Given the description of an element on the screen output the (x, y) to click on. 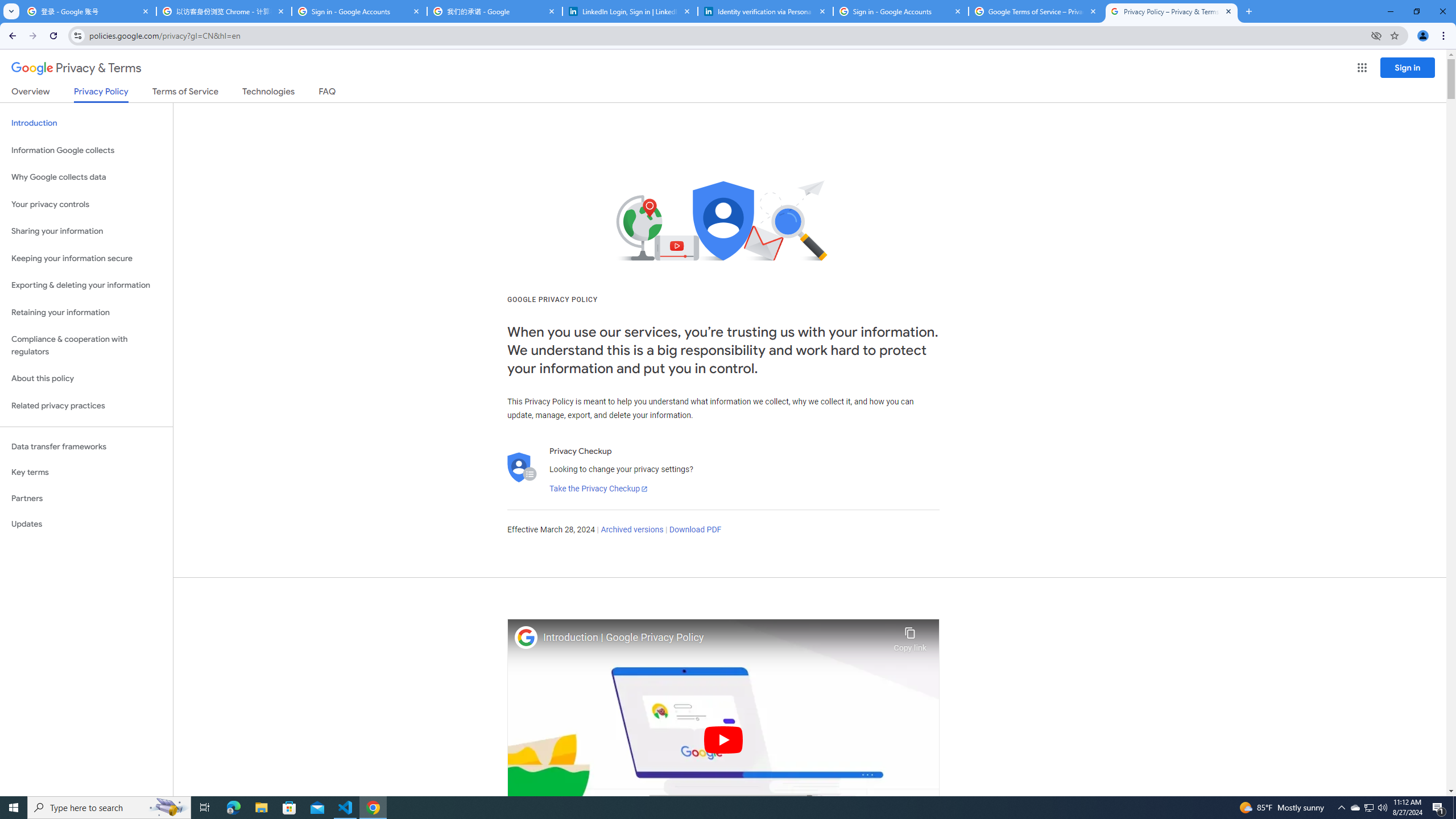
Keeping your information secure (86, 258)
LinkedIn Login, Sign in | LinkedIn (630, 11)
Archived versions (631, 529)
Play (723, 739)
Why Google collects data (86, 176)
Sign in - Google Accounts (901, 11)
Compliance & cooperation with regulators (86, 345)
